Given the description of an element on the screen output the (x, y) to click on. 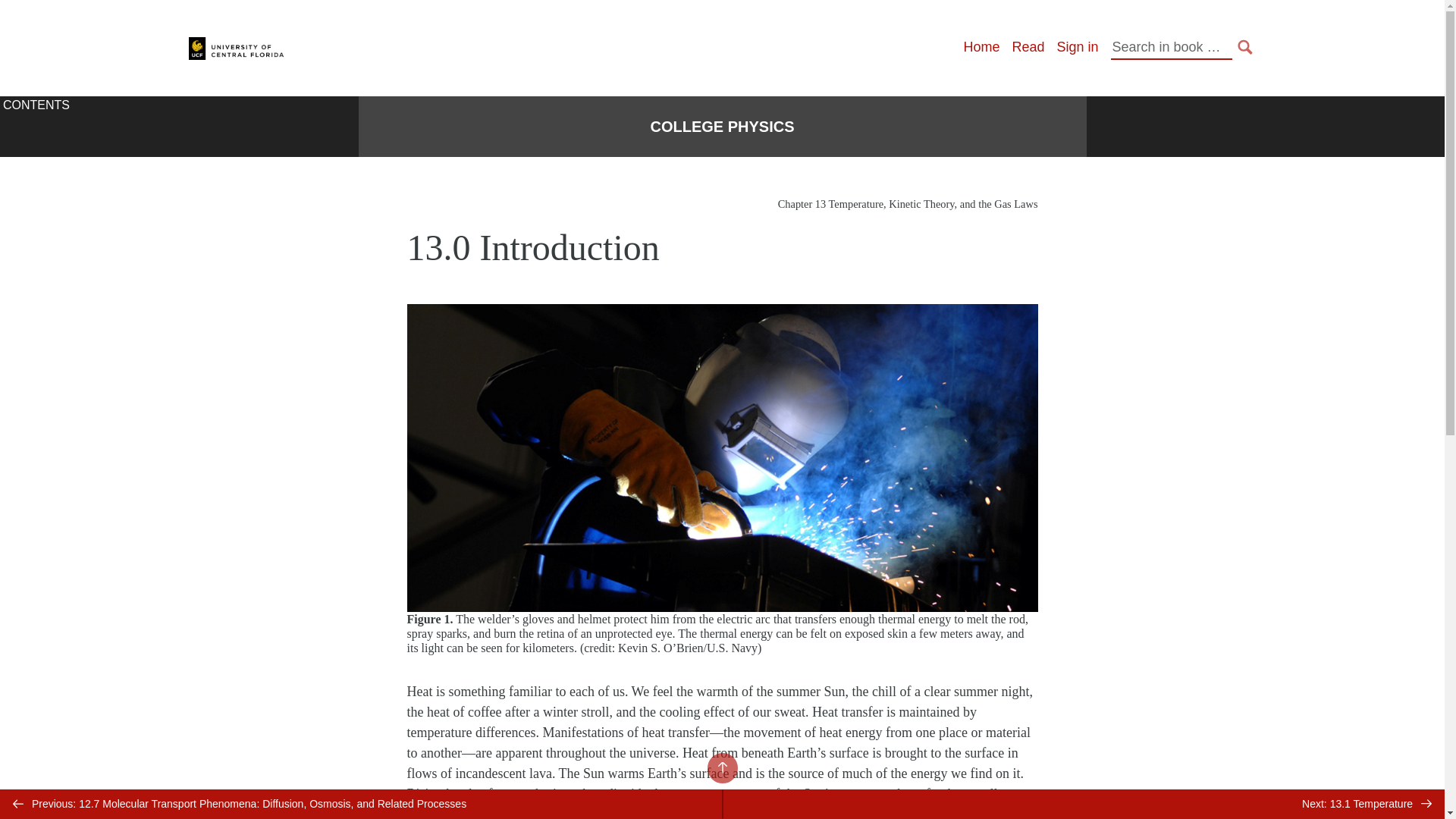
Sign in (1077, 46)
COLLEGE PHYSICS (721, 126)
BACK TO TOP (721, 767)
Read (1027, 46)
Home (980, 46)
